Given the description of an element on the screen output the (x, y) to click on. 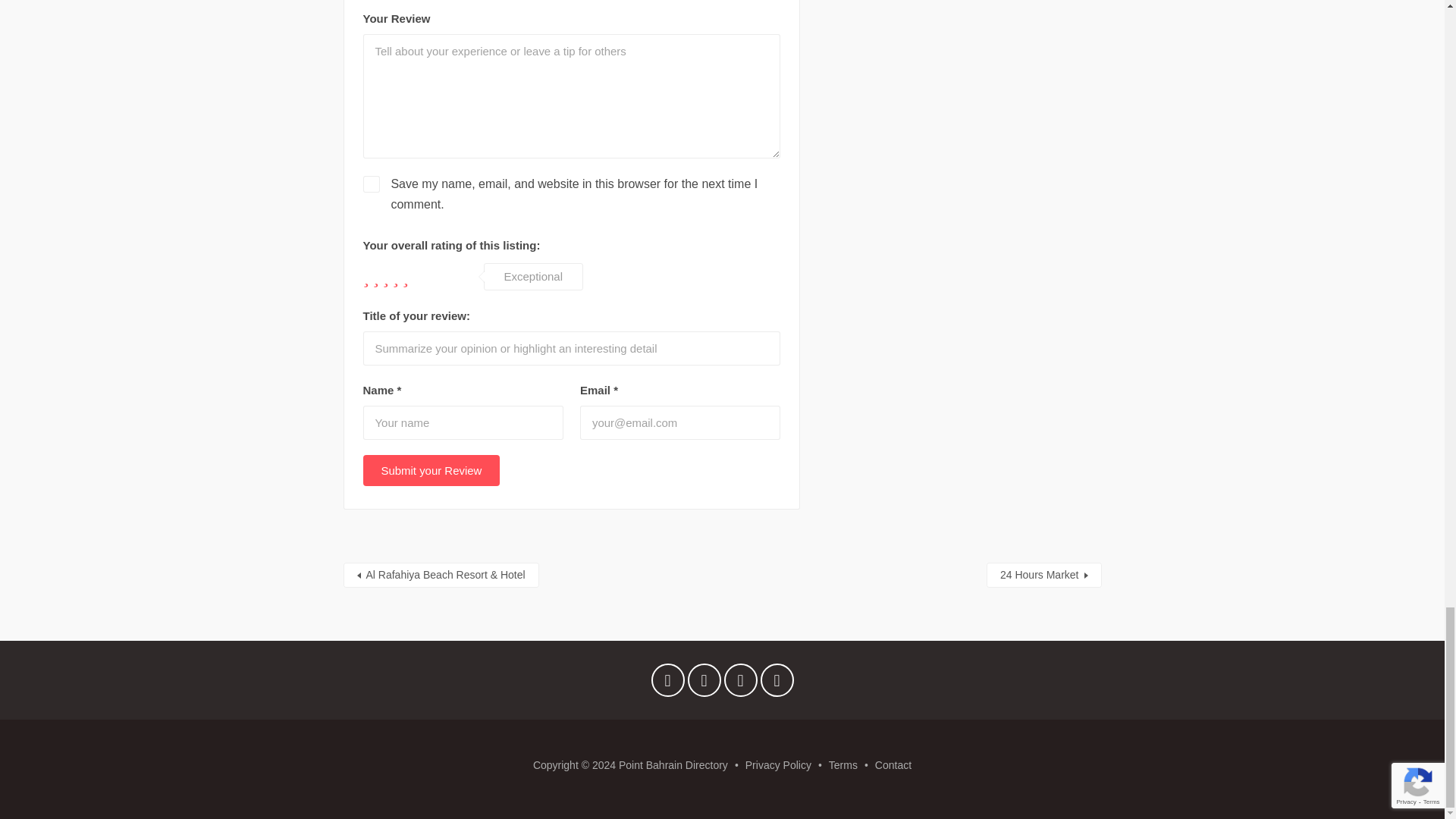
yes (370, 184)
Submit your Review (430, 470)
